Given the description of an element on the screen output the (x, y) to click on. 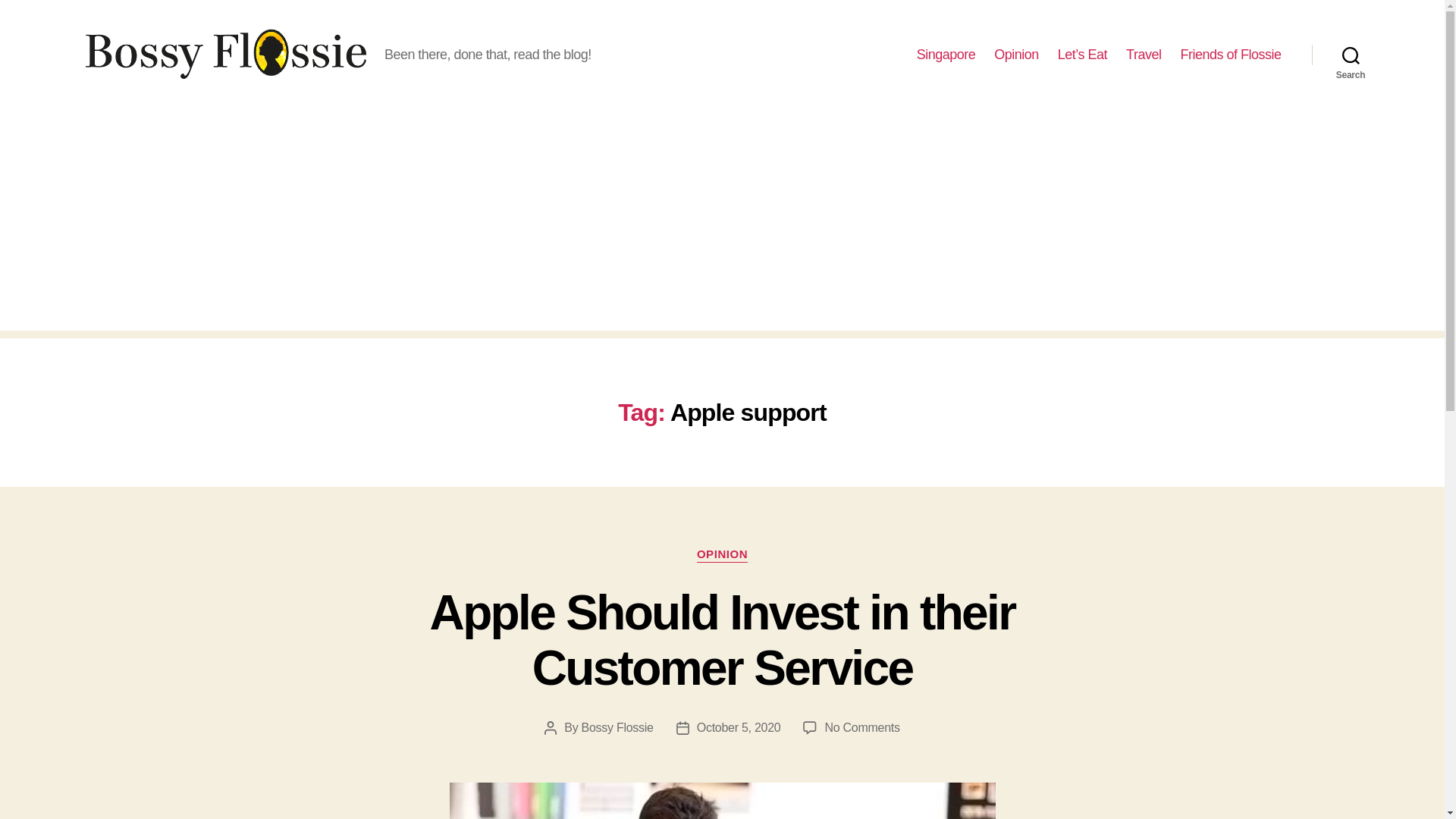
Travel (1142, 54)
Search (1350, 55)
Friends of Flossie (1230, 54)
Apple Should Invest in their Customer Service (721, 640)
October 5, 2020 (738, 727)
OPINION (861, 727)
Singapore (722, 554)
Bossy Flossie (946, 54)
Opinion (616, 727)
